Given the description of an element on the screen output the (x, y) to click on. 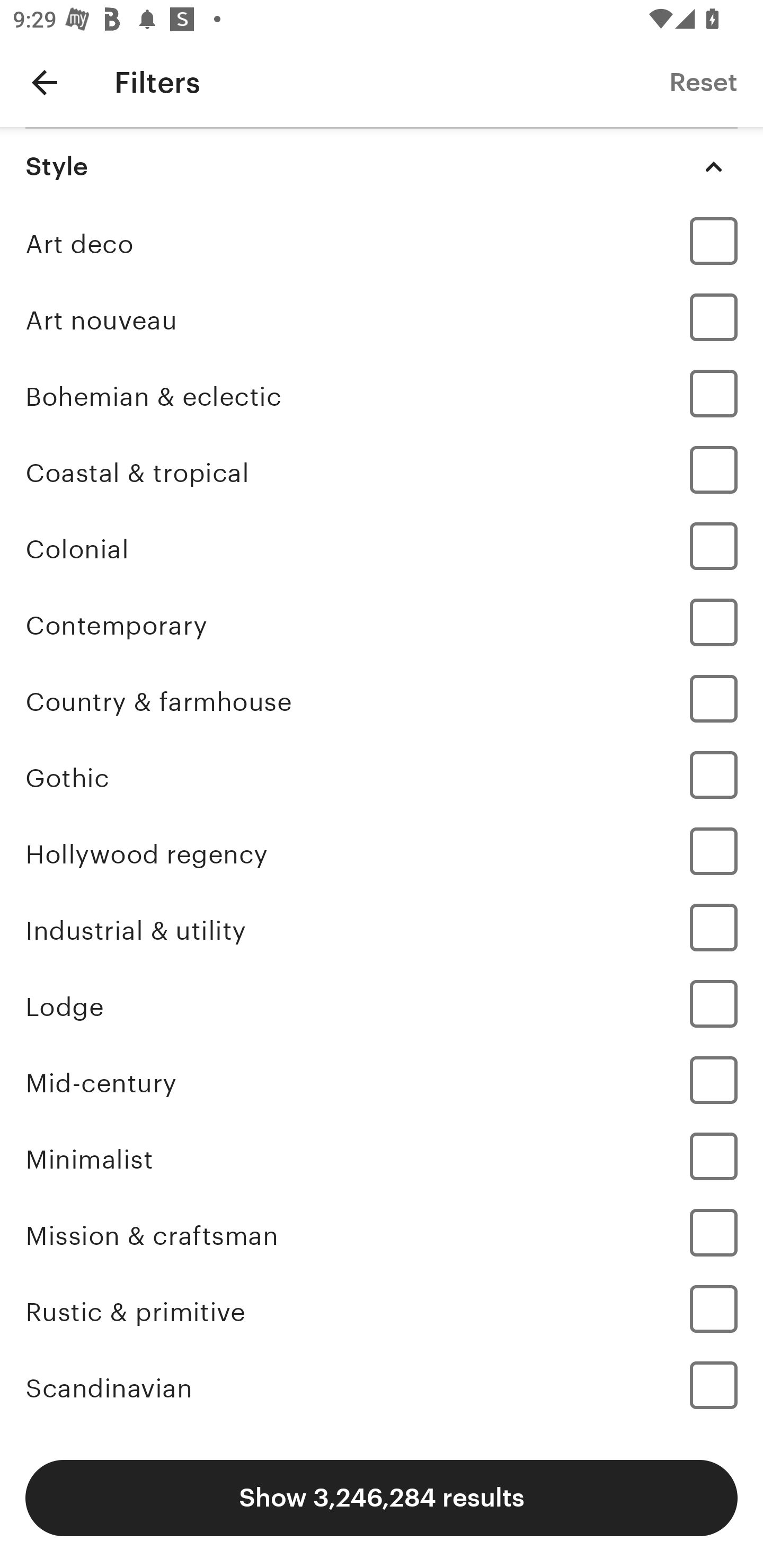
Navigate up (44, 82)
Reset (703, 81)
Style (381, 166)
Art deco (381, 243)
Art nouveau (381, 320)
Bohemian & eclectic (381, 396)
Coastal & tropical (381, 472)
Colonial (381, 549)
Contemporary (381, 625)
Country & farmhouse (381, 701)
Gothic (381, 778)
Hollywood regency (381, 854)
Industrial & utility (381, 930)
Lodge (381, 1007)
Mid-century (381, 1083)
Minimalist (381, 1159)
Mission & craftsman (381, 1235)
Rustic & primitive (381, 1311)
Scandinavian (381, 1388)
Show 3,246,284 results (381, 1497)
